Given the description of an element on the screen output the (x, y) to click on. 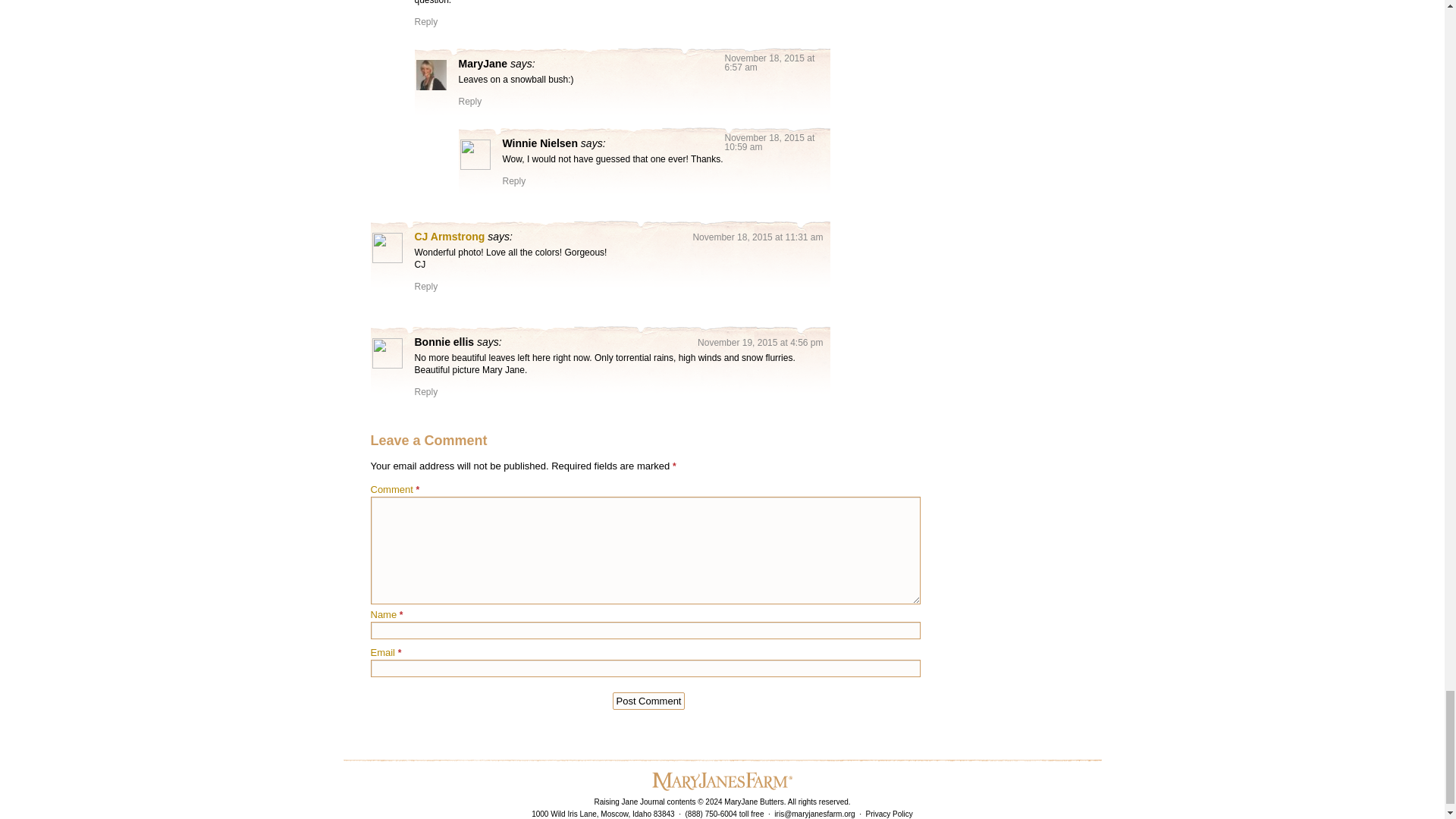
Post Comment (648, 701)
